Given the description of an element on the screen output the (x, y) to click on. 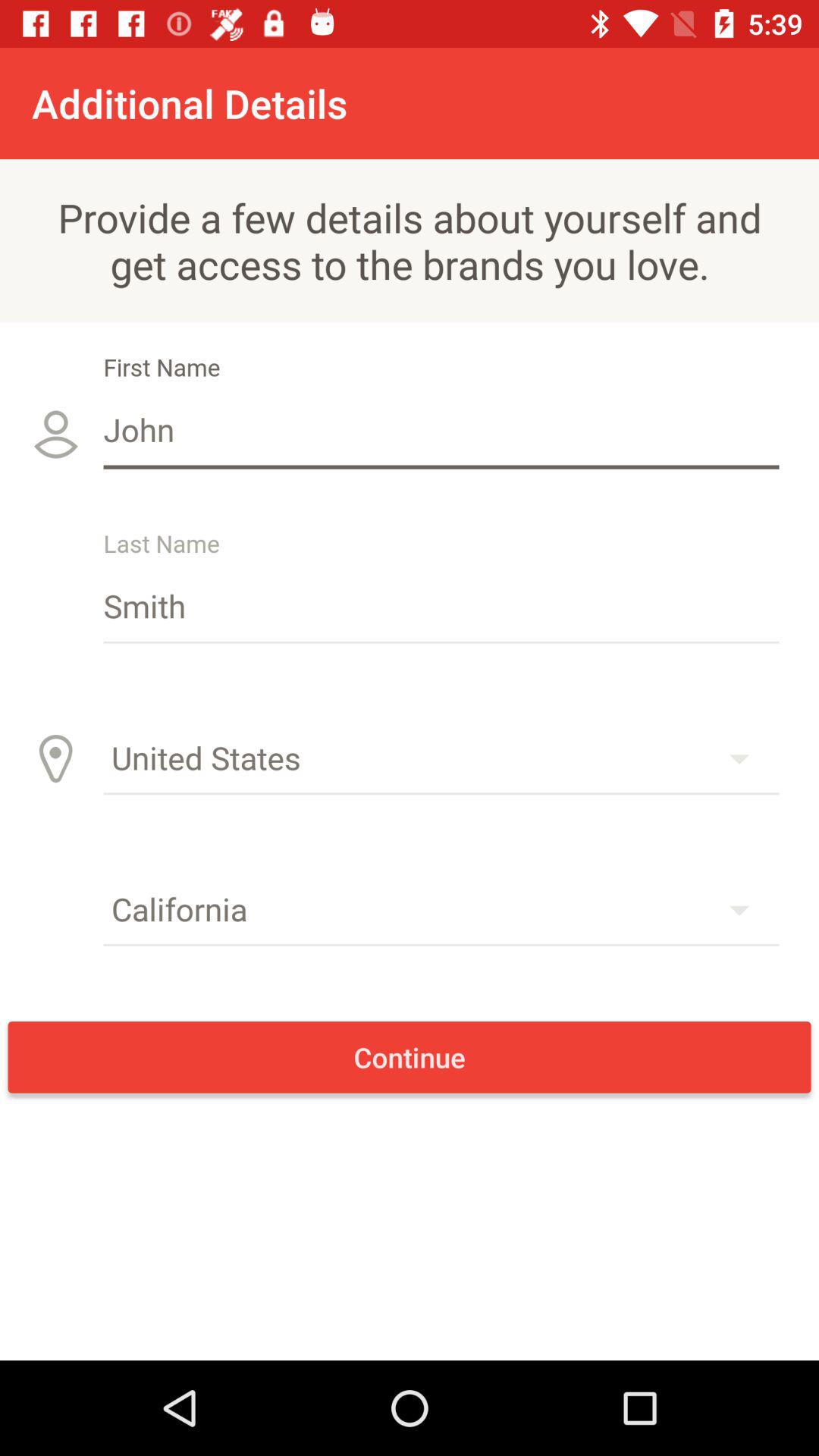
scroll until the john item (441, 428)
